Given the description of an element on the screen output the (x, y) to click on. 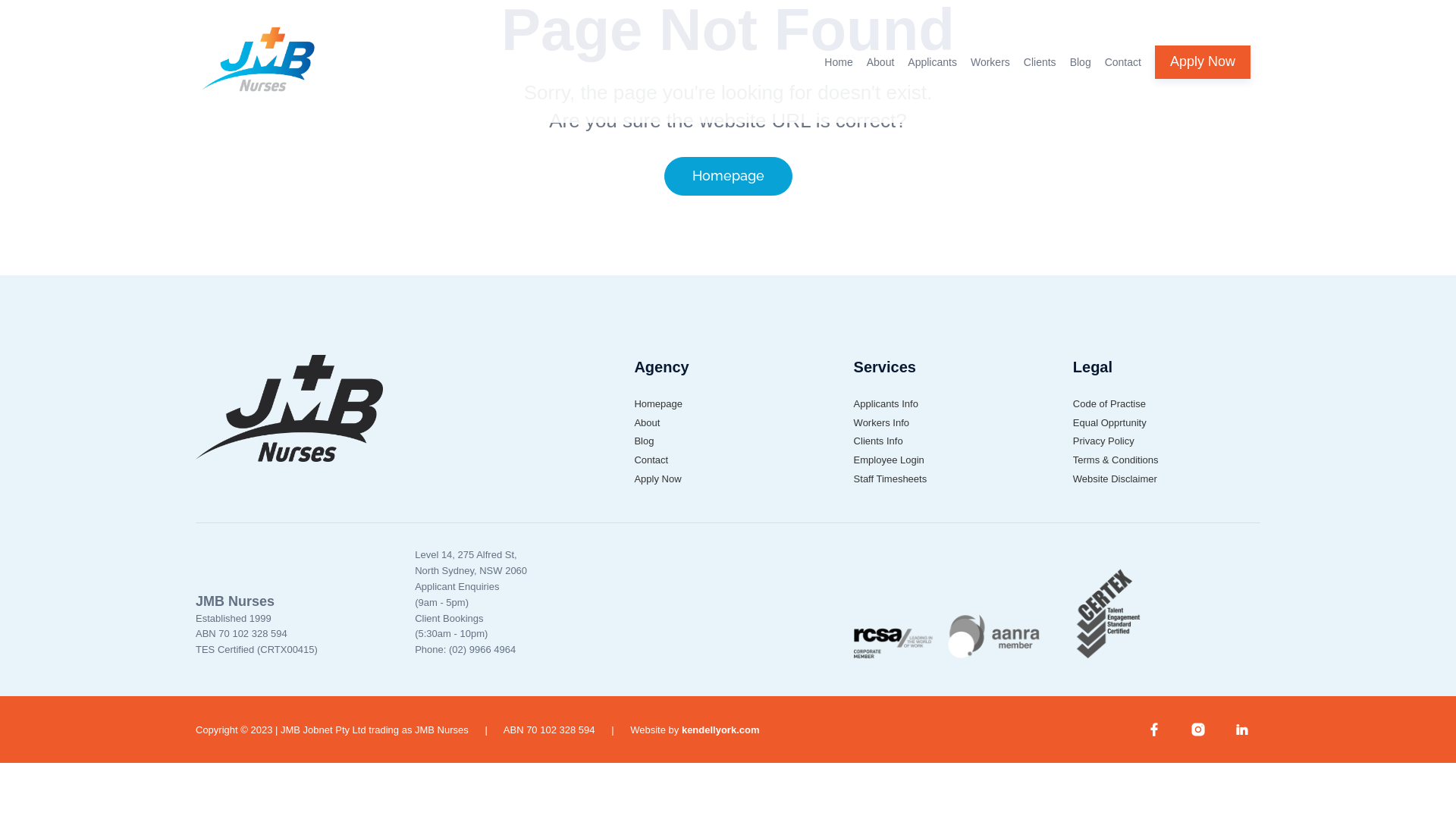
Terms & Conditions Element type: text (1115, 459)
kendellyork.com Element type: text (720, 730)
Applicants Element type: text (932, 76)
Code of Practise Element type: text (1109, 403)
Clients Info Element type: text (878, 440)
Staff Timesheets Element type: text (890, 478)
Homepage Element type: text (657, 403)
Apply Now Element type: text (656, 478)
Logo Combined Element type: hover (947, 611)
Home Element type: text (838, 76)
Employee Login Element type: text (888, 459)
Contact Element type: text (1122, 76)
Workers Element type: text (990, 76)
Clients Element type: text (1039, 76)
JMB-Nurses-Grey Element type: hover (288, 407)
Applicants Info Element type: text (885, 403)
Privacy Policy Element type: text (1103, 440)
About Element type: text (646, 422)
Blog Element type: text (1080, 76)
Equal Opprtunity Element type: text (1109, 422)
Apply Now Element type: text (1202, 61)
Workers Info Element type: text (881, 422)
Homepage Element type: text (728, 175)
Contact Element type: text (650, 459)
Website Disclaimer Element type: text (1115, 478)
Certex Logo Square Element type: hover (1108, 611)
Blog Element type: text (643, 440)
About Element type: text (880, 76)
